Given the description of an element on the screen output the (x, y) to click on. 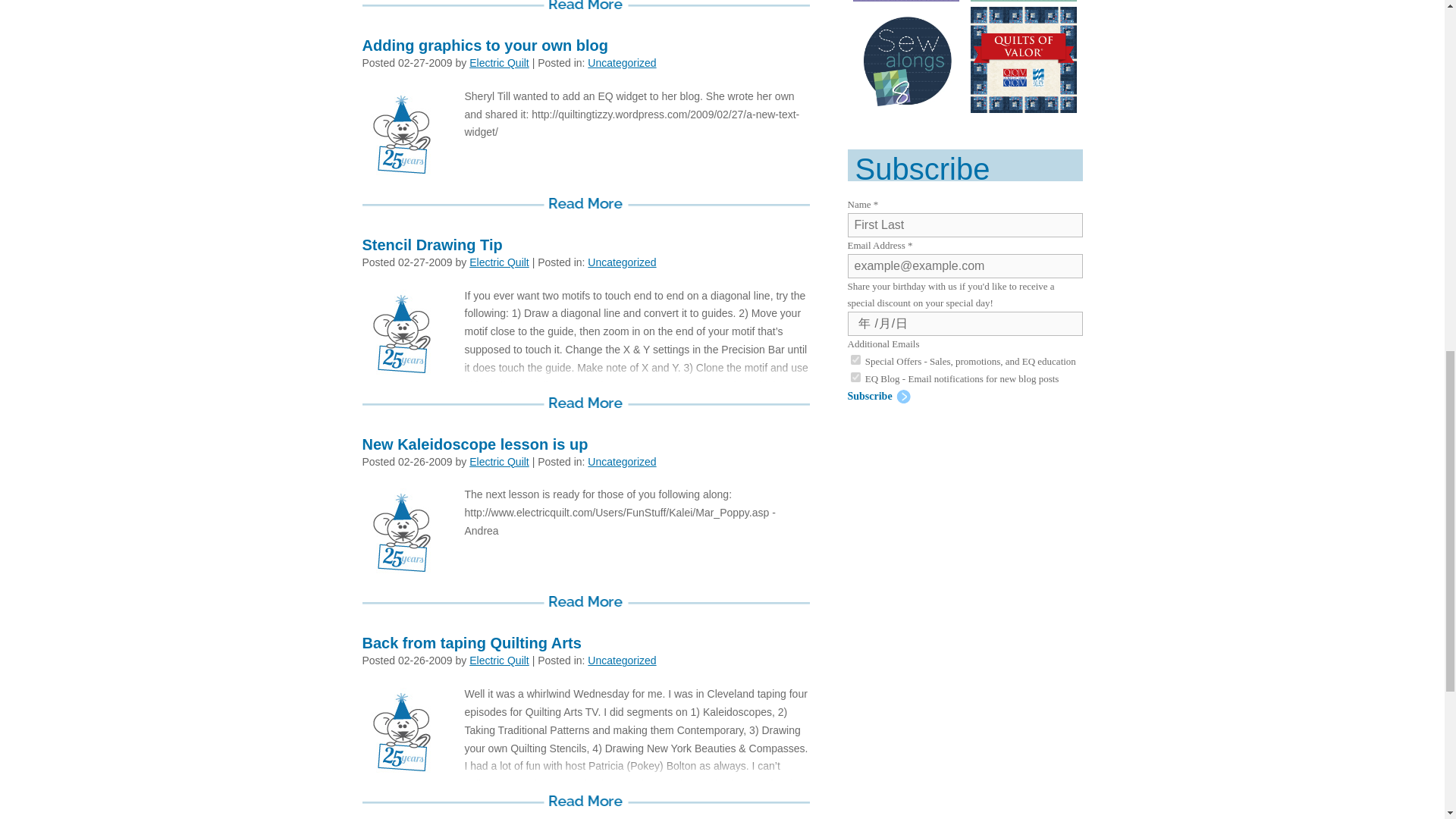
26 (930, 434)
true (855, 359)
Subscribe (879, 396)
true (855, 377)
